Given the description of an element on the screen output the (x, y) to click on. 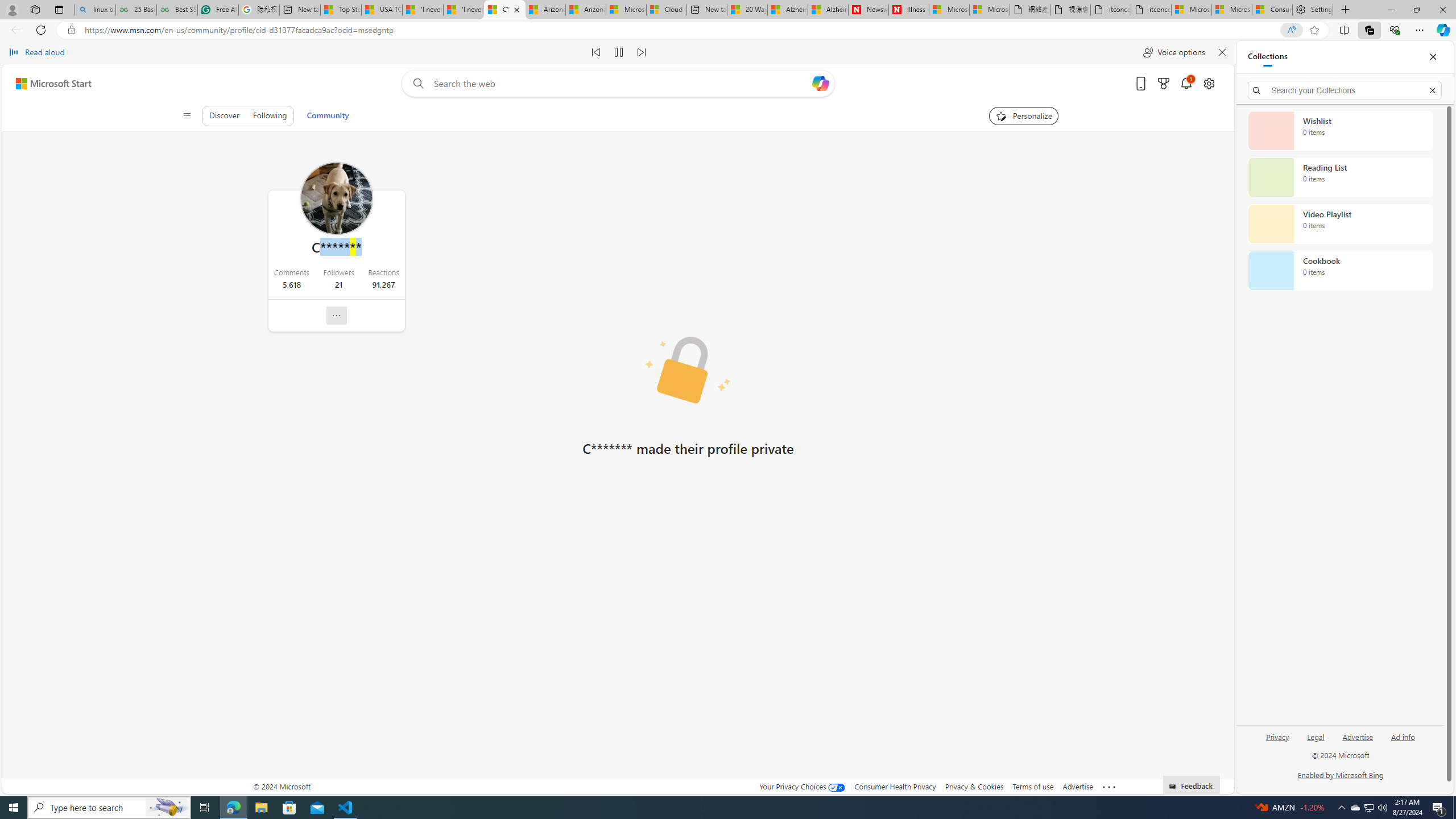
Read next paragraph (641, 52)
Newsweek - News, Analysis, Politics, Business, Technology (868, 9)
